Given the description of an element on the screen output the (x, y) to click on. 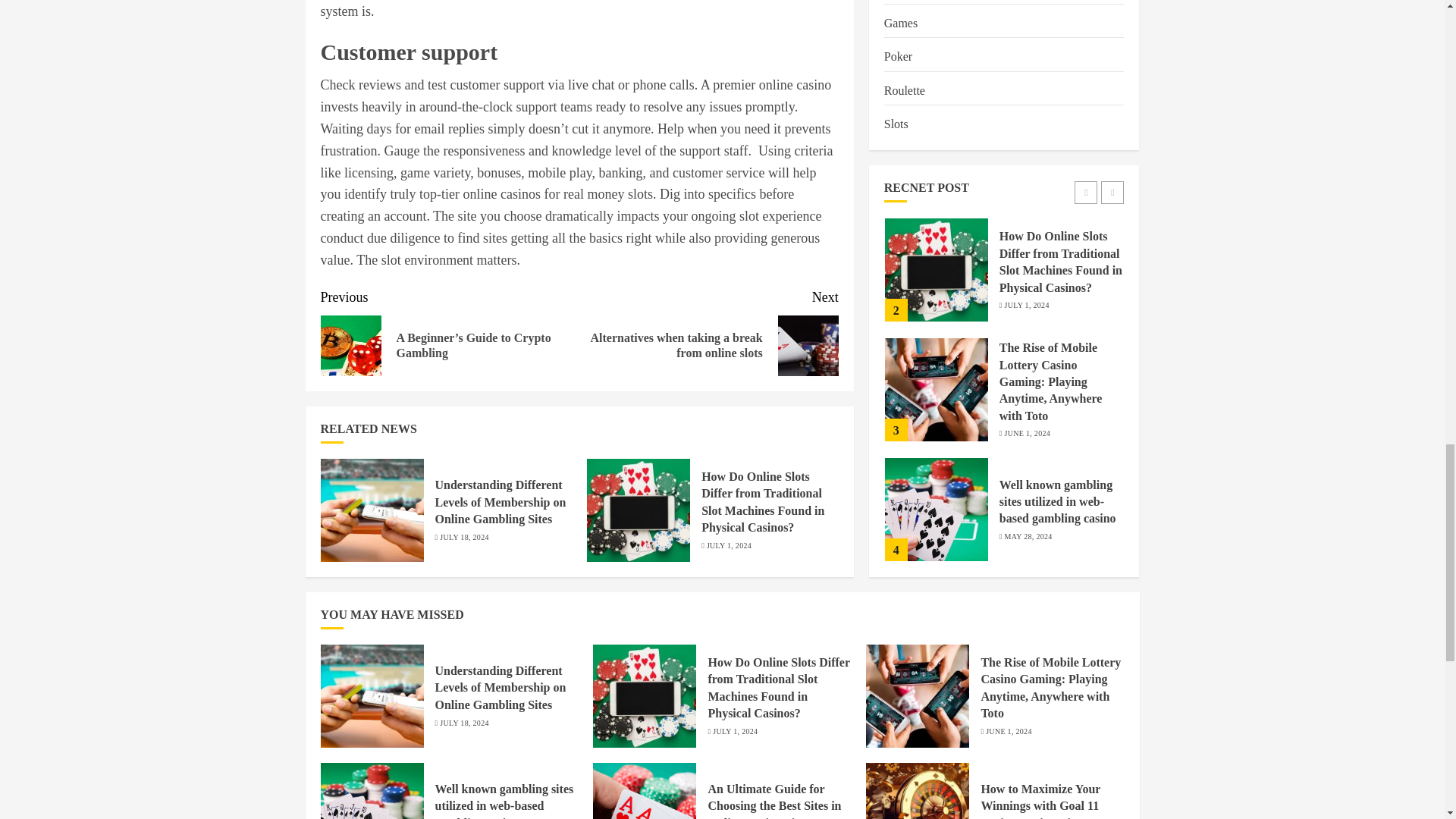
JULY 1, 2024 (728, 545)
JULY 18, 2024 (463, 537)
